Given the description of an element on the screen output the (x, y) to click on. 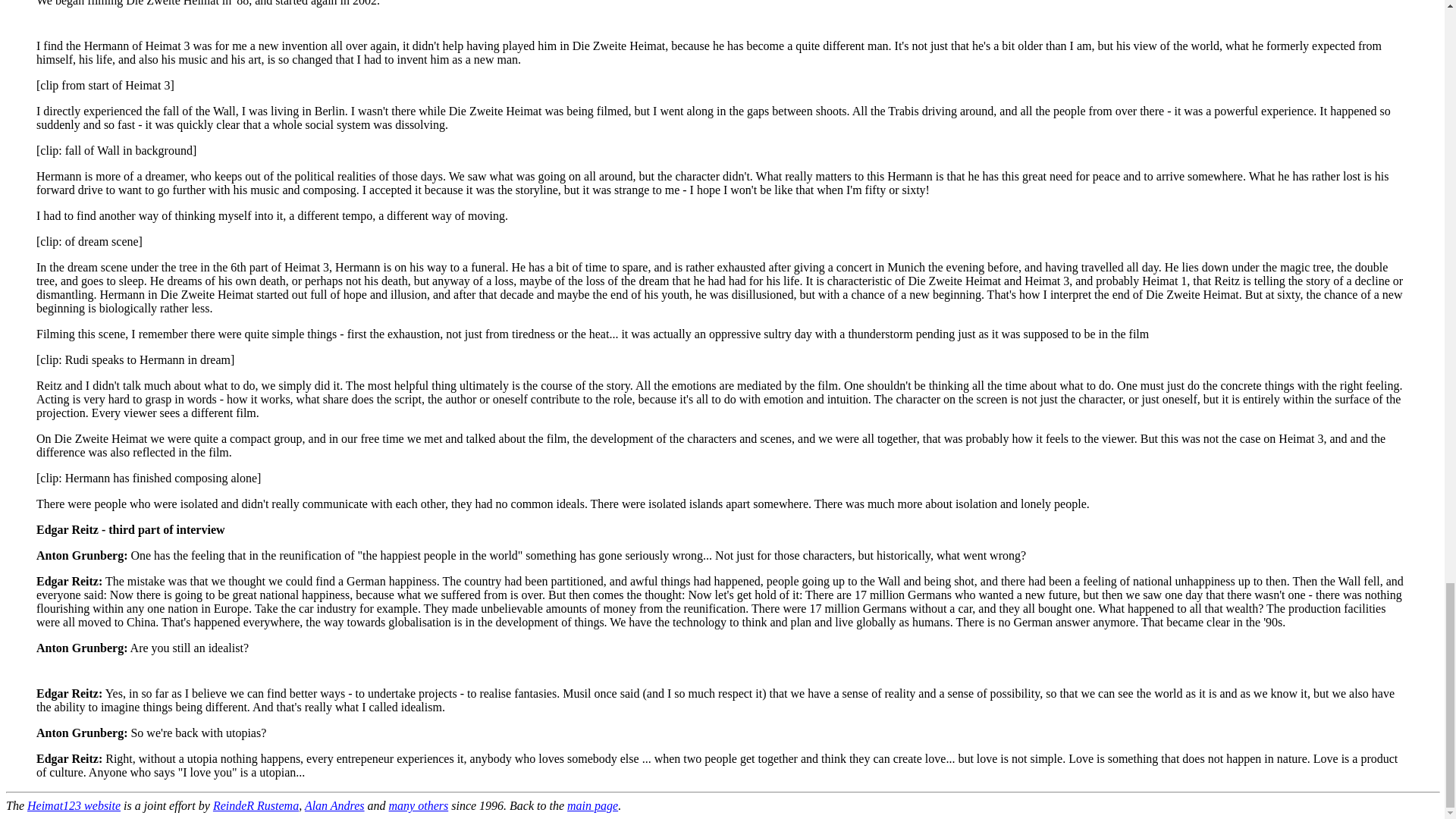
many others (418, 805)
Alan Andres (334, 805)
ReindeR Rustema (255, 805)
main page (592, 805)
Heimat123 website (73, 805)
